Given the description of an element on the screen output the (x, y) to click on. 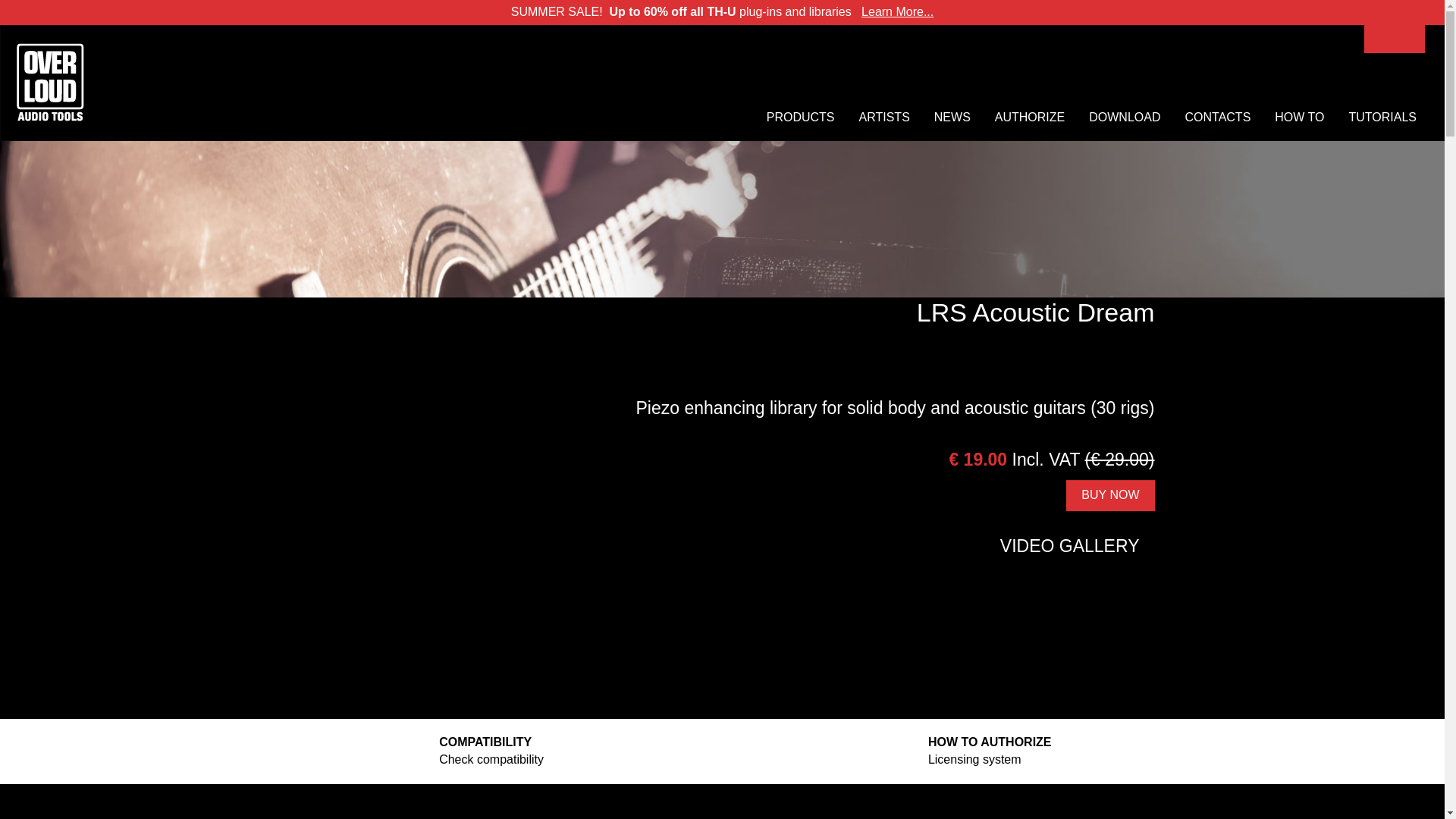
Learn More... (897, 11)
DOWNLOAD (1124, 118)
PRODUCTS (800, 118)
AUTHORIZE (1029, 118)
TUTORIALS (1382, 118)
Home (50, 82)
HOW TO (975, 751)
ARTISTS (1299, 118)
CONTACTS (884, 118)
VIDEO GALLERY (1217, 118)
BUY NOW (486, 751)
Skip to main content (1058, 545)
NEWS (1109, 495)
